Given the description of an element on the screen output the (x, y) to click on. 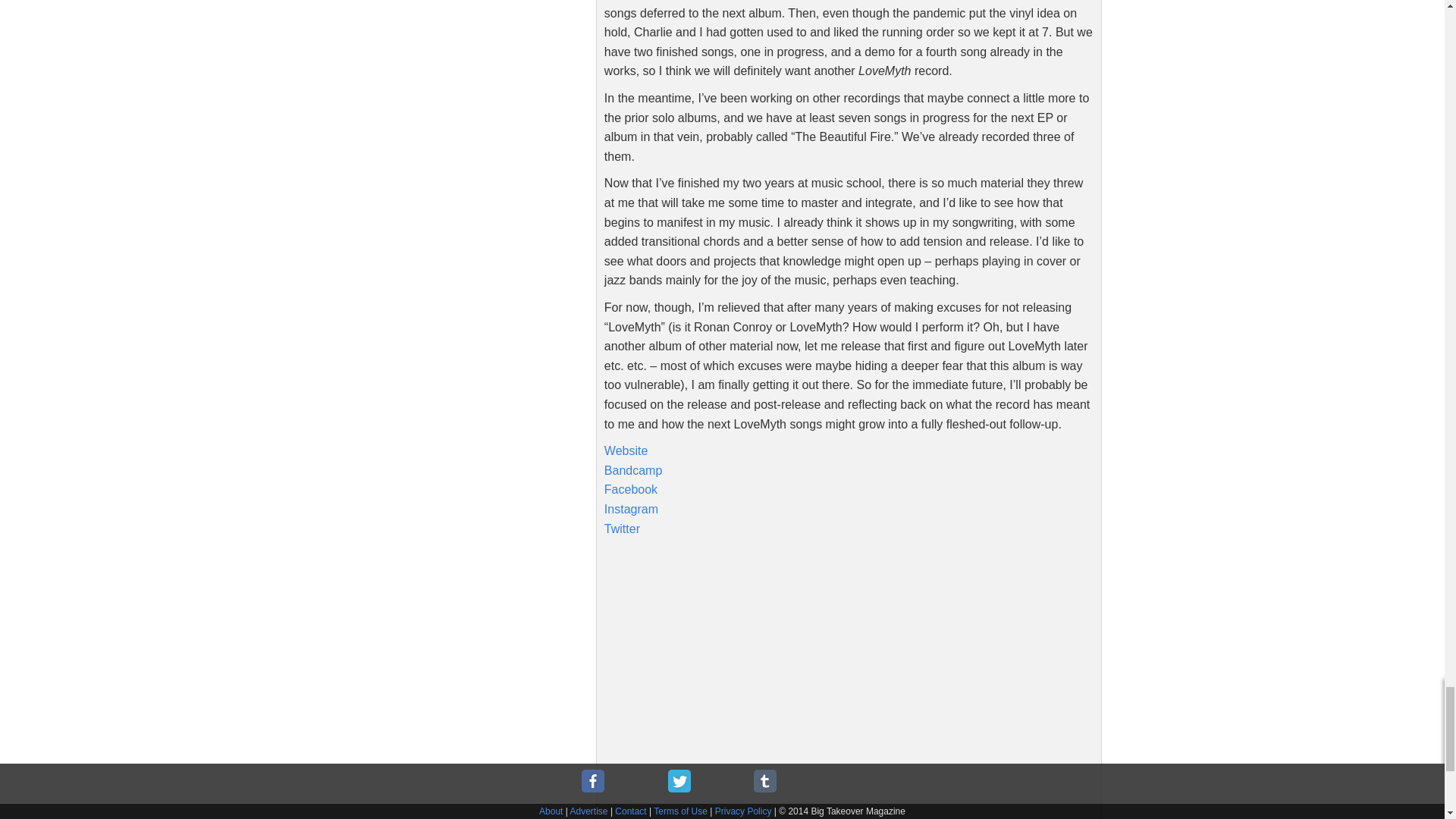
Twitter (622, 527)
Bandcamp (633, 470)
Website (625, 450)
Instagram (631, 508)
Facebook (631, 489)
